Given the description of an element on the screen output the (x, y) to click on. 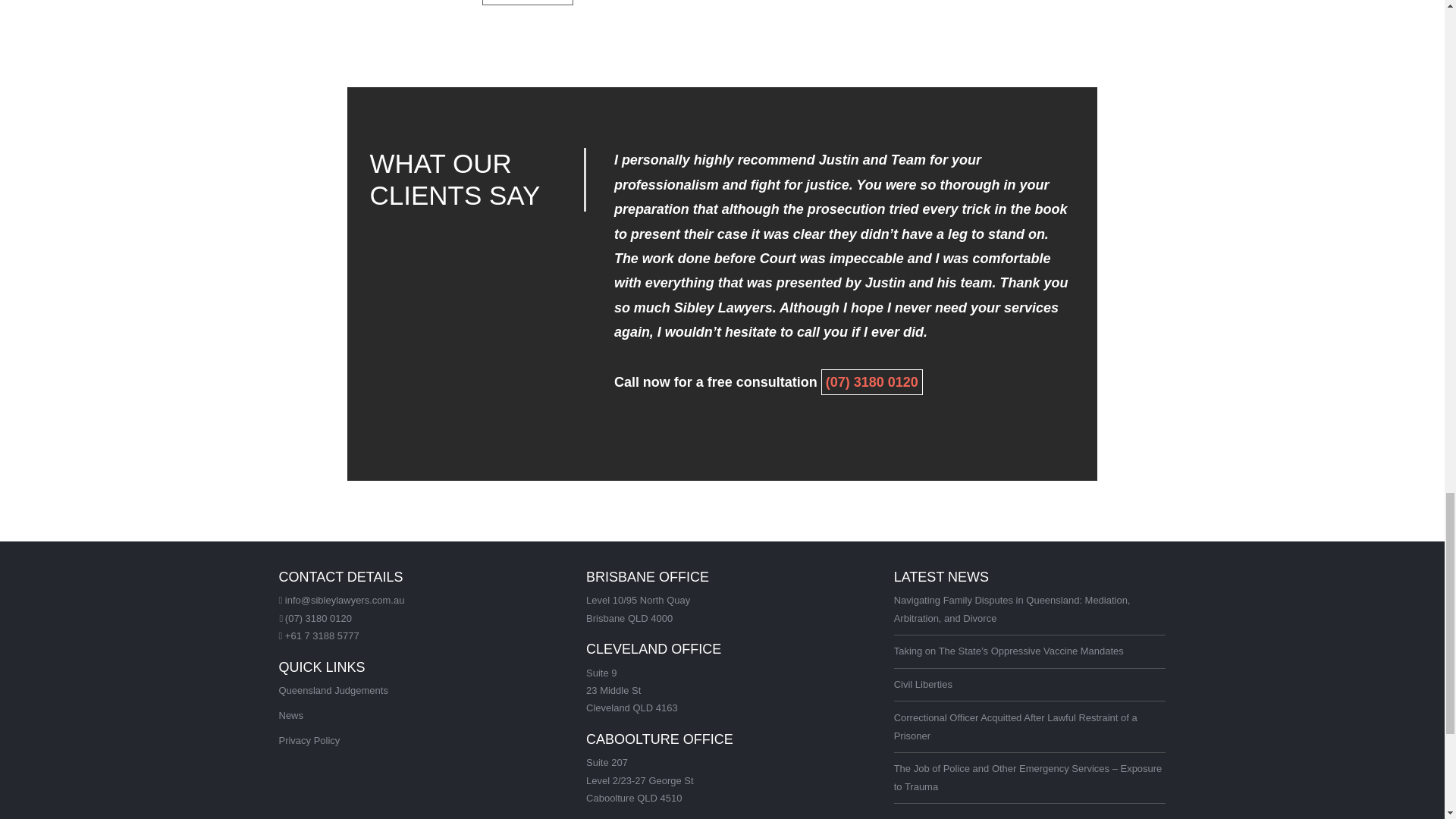
LATEST NEWS (940, 576)
Privacy Policy (309, 740)
Civil Liberties (922, 684)
Queensland Judgements (333, 690)
News (290, 715)
